Given the description of an element on the screen output the (x, y) to click on. 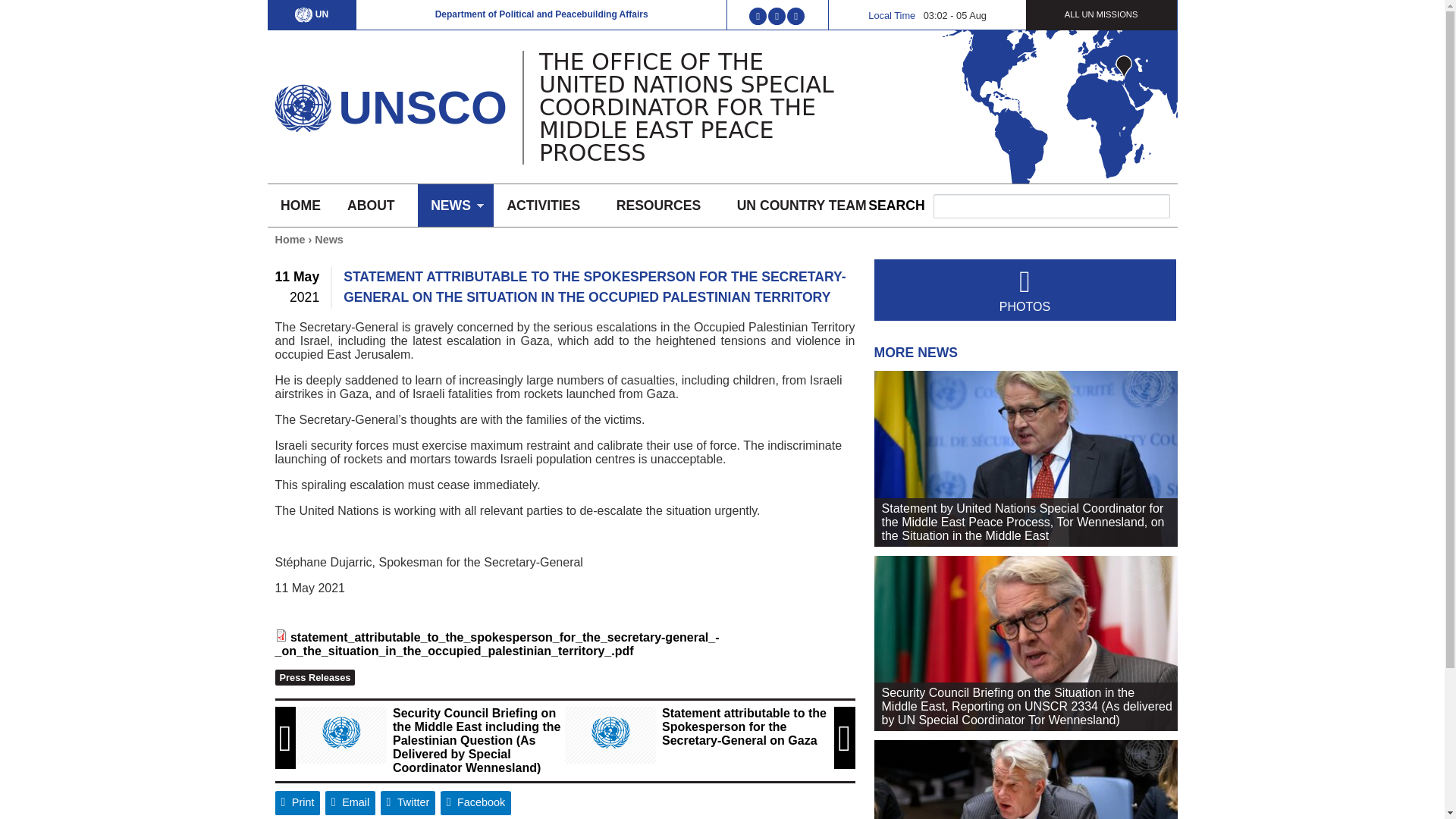
Department of Political and Peacebuilding Affairs (541, 14)
Home (421, 107)
Print (297, 802)
Twitter (407, 802)
ALL UN MISSIONS (1101, 13)
UNSCO (421, 107)
HOME (299, 205)
UN (312, 14)
News (328, 239)
Enter the terms you wish to search for. (1051, 206)
Home (289, 239)
Home (301, 103)
UN COUNTRY TEAM (801, 205)
Email (349, 802)
